Given the description of an element on the screen output the (x, y) to click on. 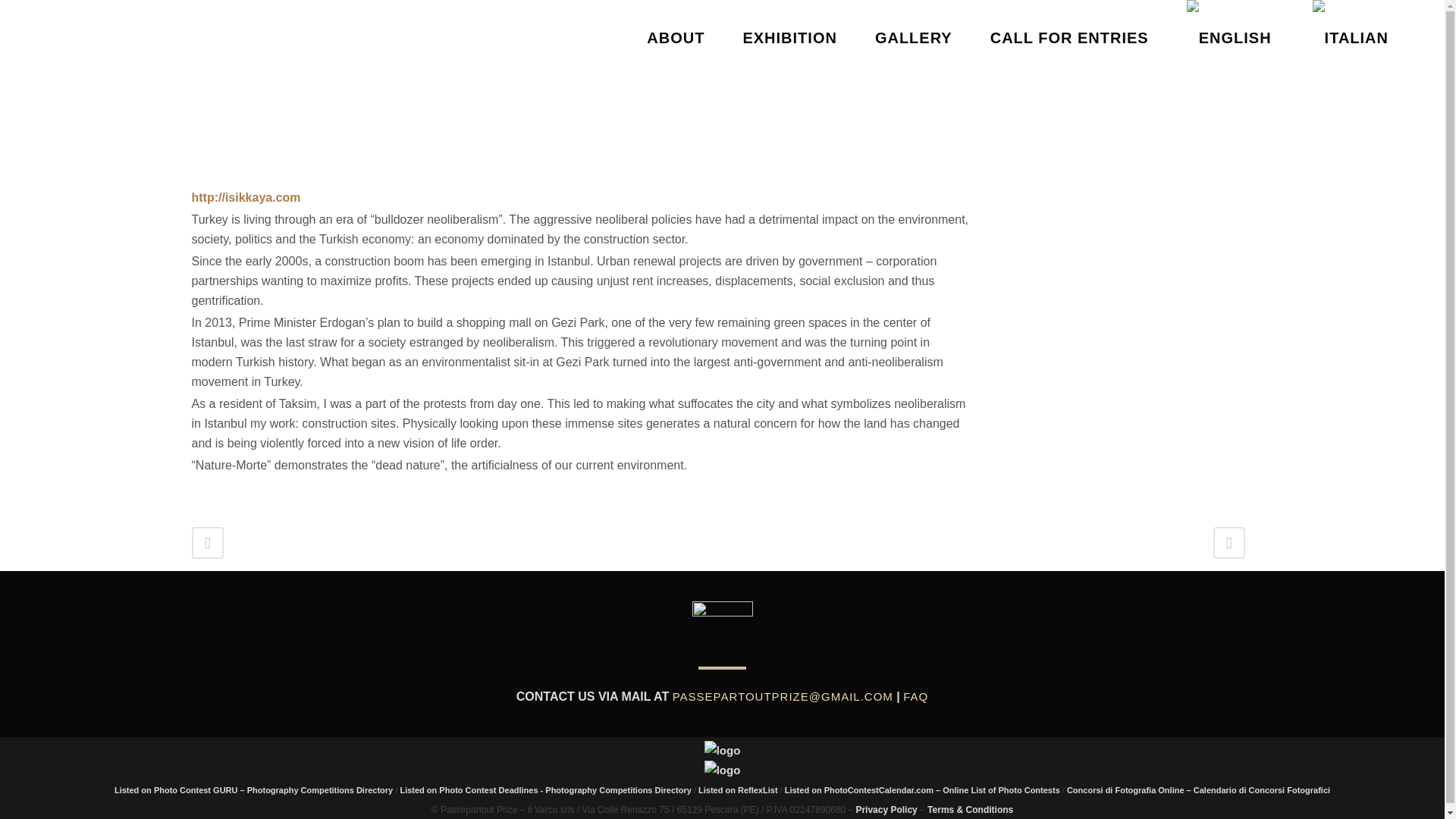
ABOUT (675, 38)
GALLERY (913, 38)
CALL FOR ENTRIES (1069, 38)
EXHIBITION (789, 38)
